Given the description of an element on the screen output the (x, y) to click on. 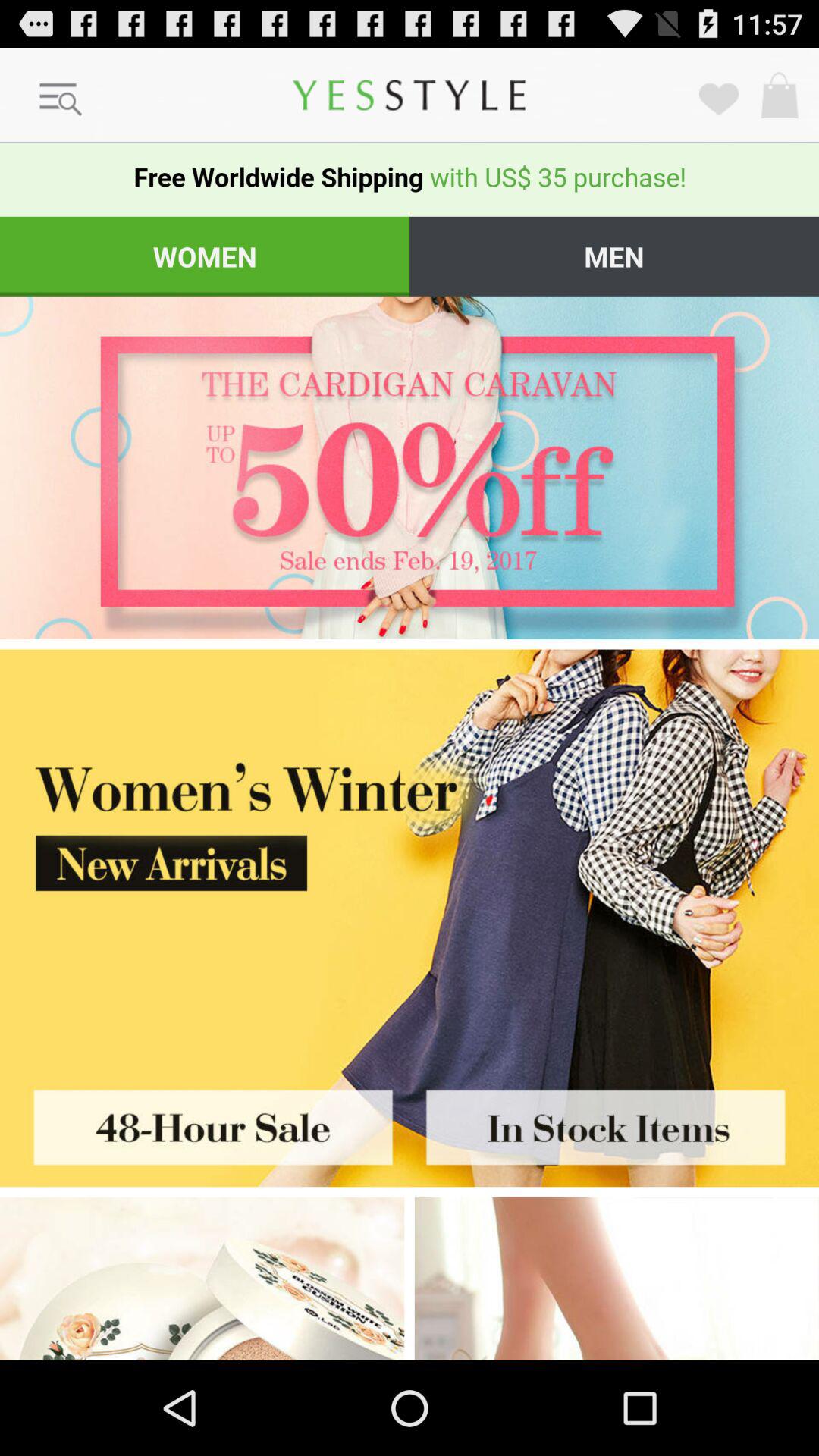
find in stock items button (614, 1122)
